Given the description of an element on the screen output the (x, y) to click on. 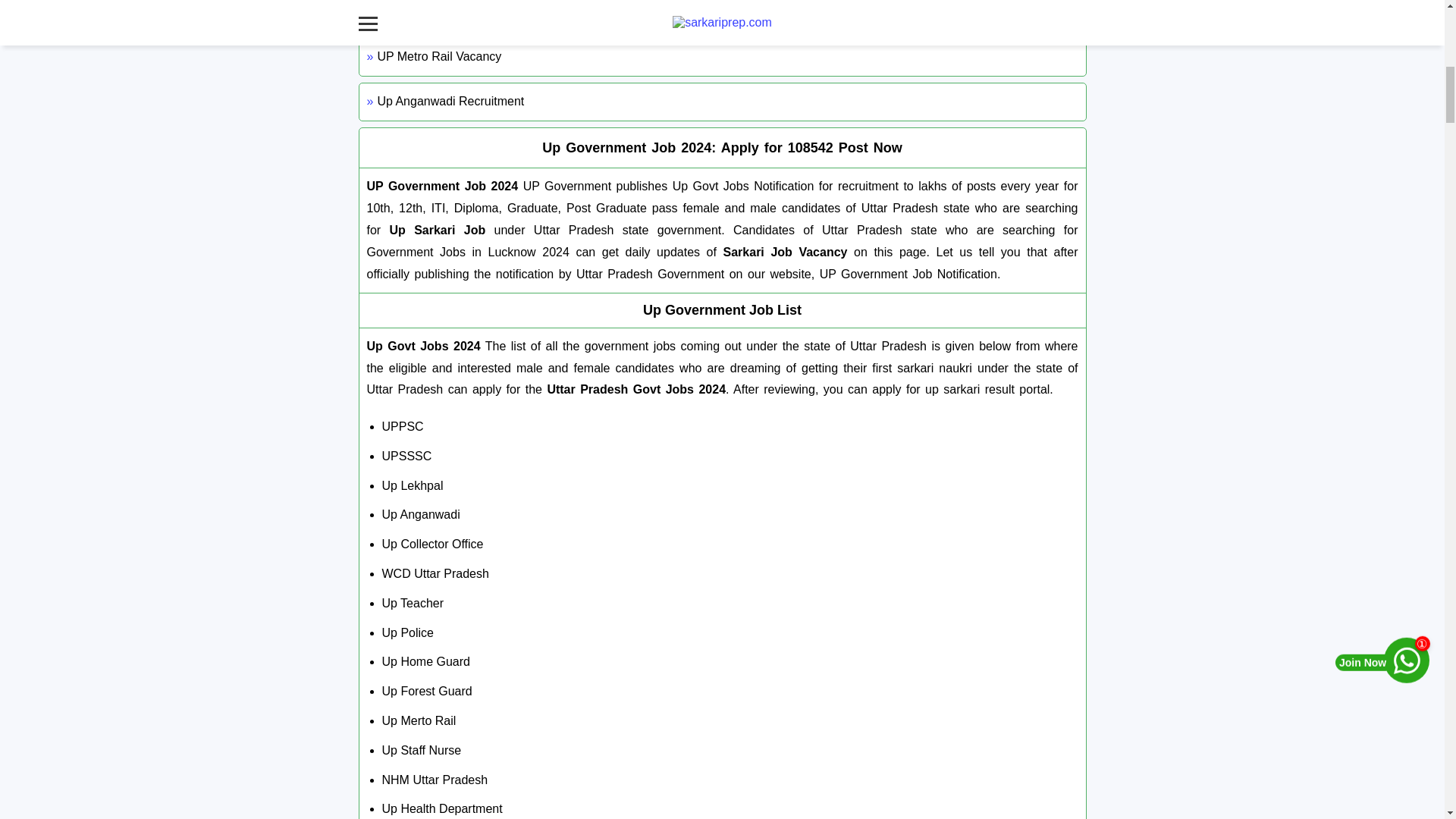
UP Metro Rail Vacancy (722, 56)
Up Board 12th Result (722, 16)
Up Anganwadi Recruitment (722, 101)
